Given the description of an element on the screen output the (x, y) to click on. 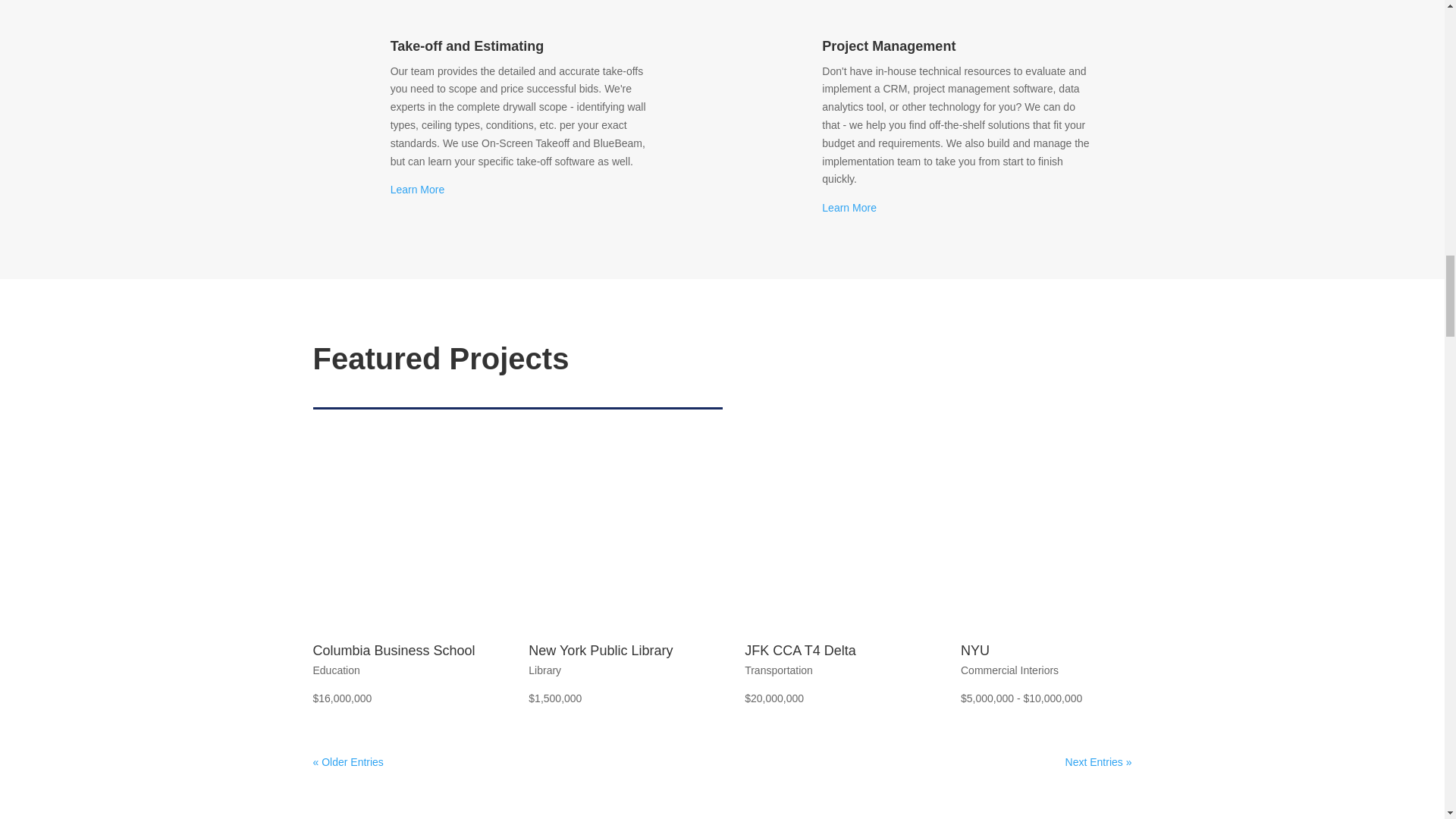
Columbia Business School (398, 551)
Columbia Business School (393, 650)
Learn More (417, 189)
Education (336, 670)
